Given the description of an element on the screen output the (x, y) to click on. 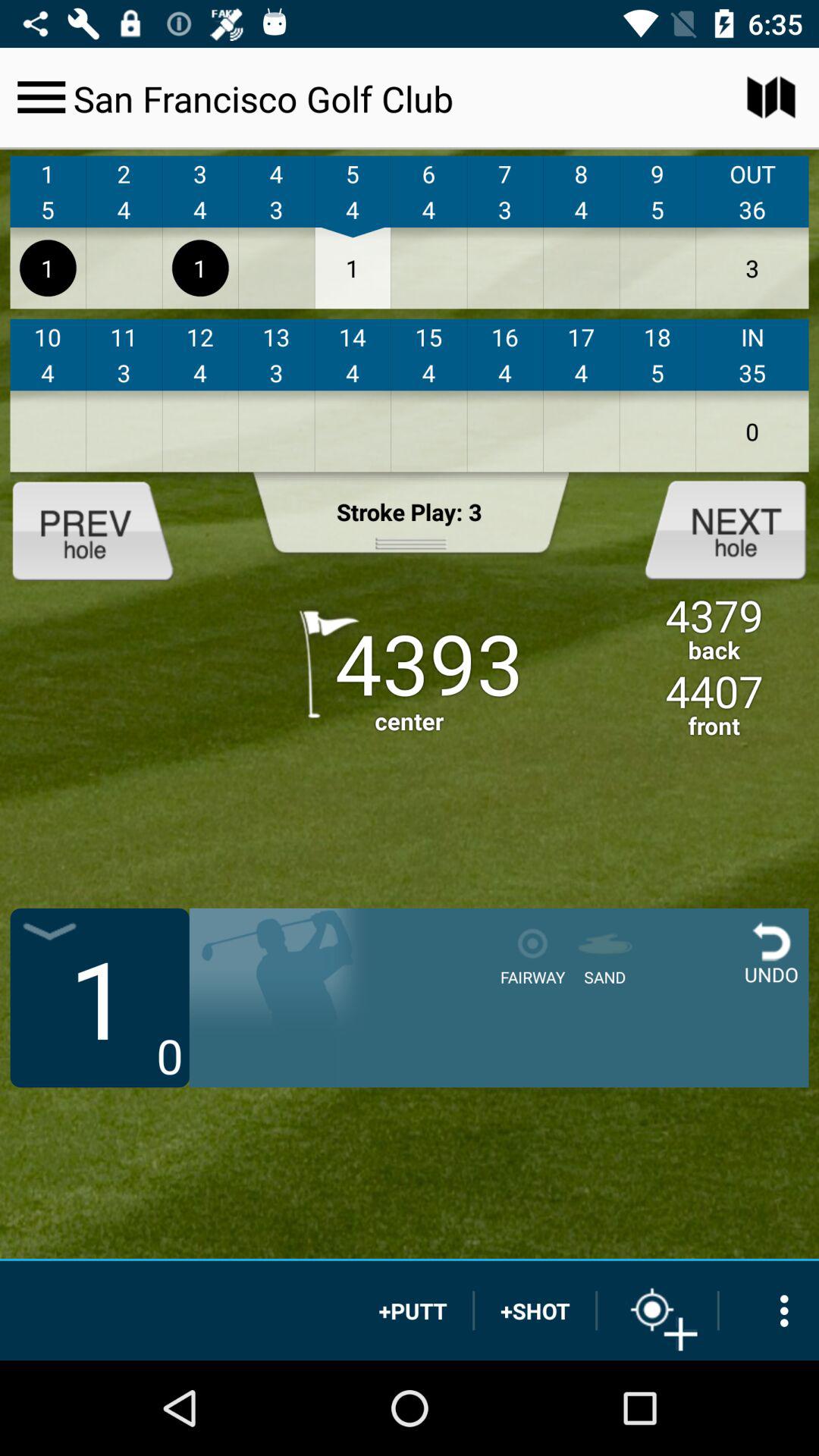
hole (712, 528)
